Given the description of an element on the screen output the (x, y) to click on. 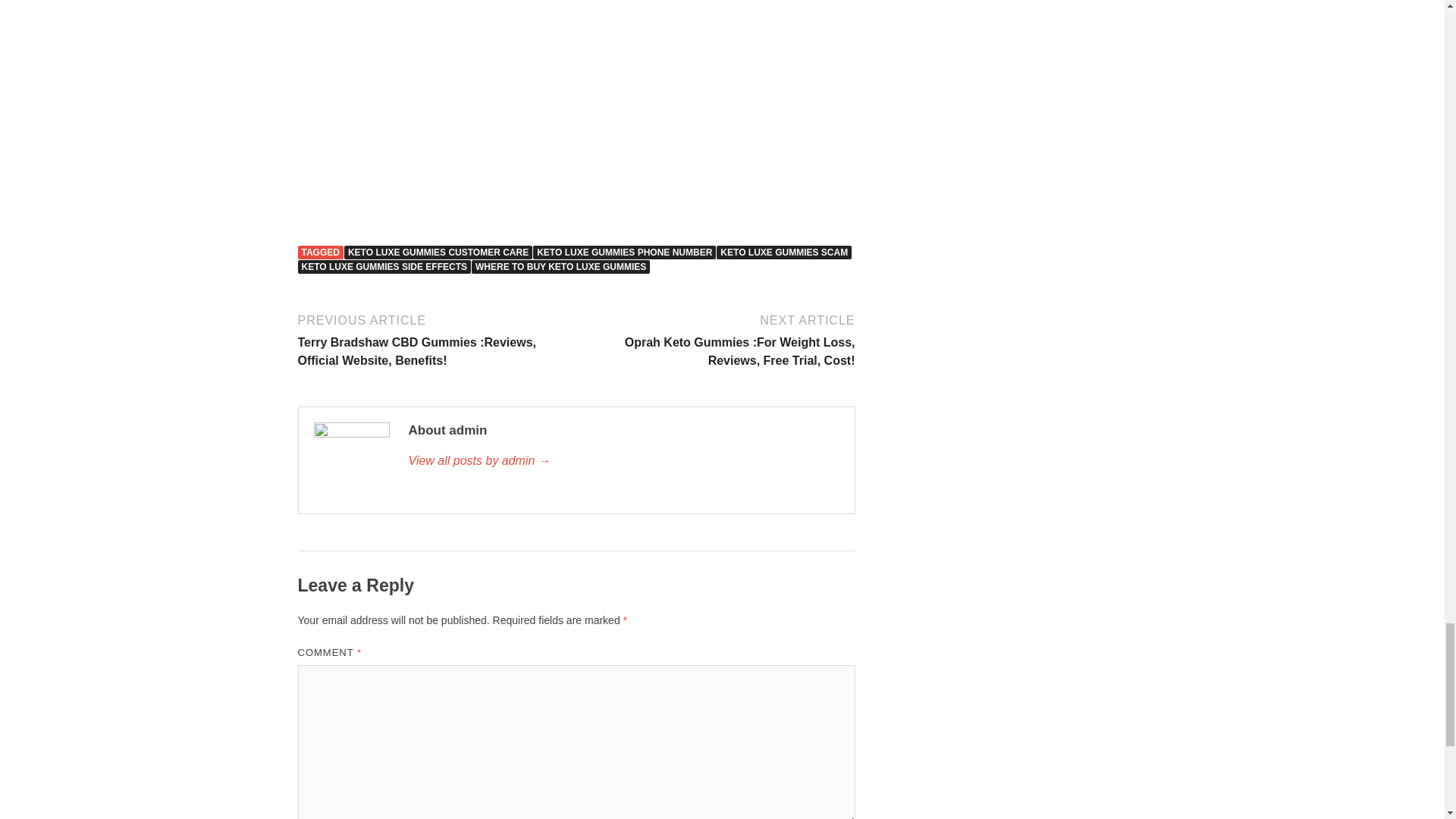
WHERE TO BUY KETO LUXE GUMMIES (560, 266)
Keto Luxe Gummies (575, 106)
KETO LUXE GUMMIES PHONE NUMBER (624, 252)
KETO LUXE GUMMIES CUSTOMER CARE (437, 252)
admin (622, 461)
KETO LUXE GUMMIES SIDE EFFECTS (383, 266)
KETO LUXE GUMMIES SCAM (783, 252)
